Given the description of an element on the screen output the (x, y) to click on. 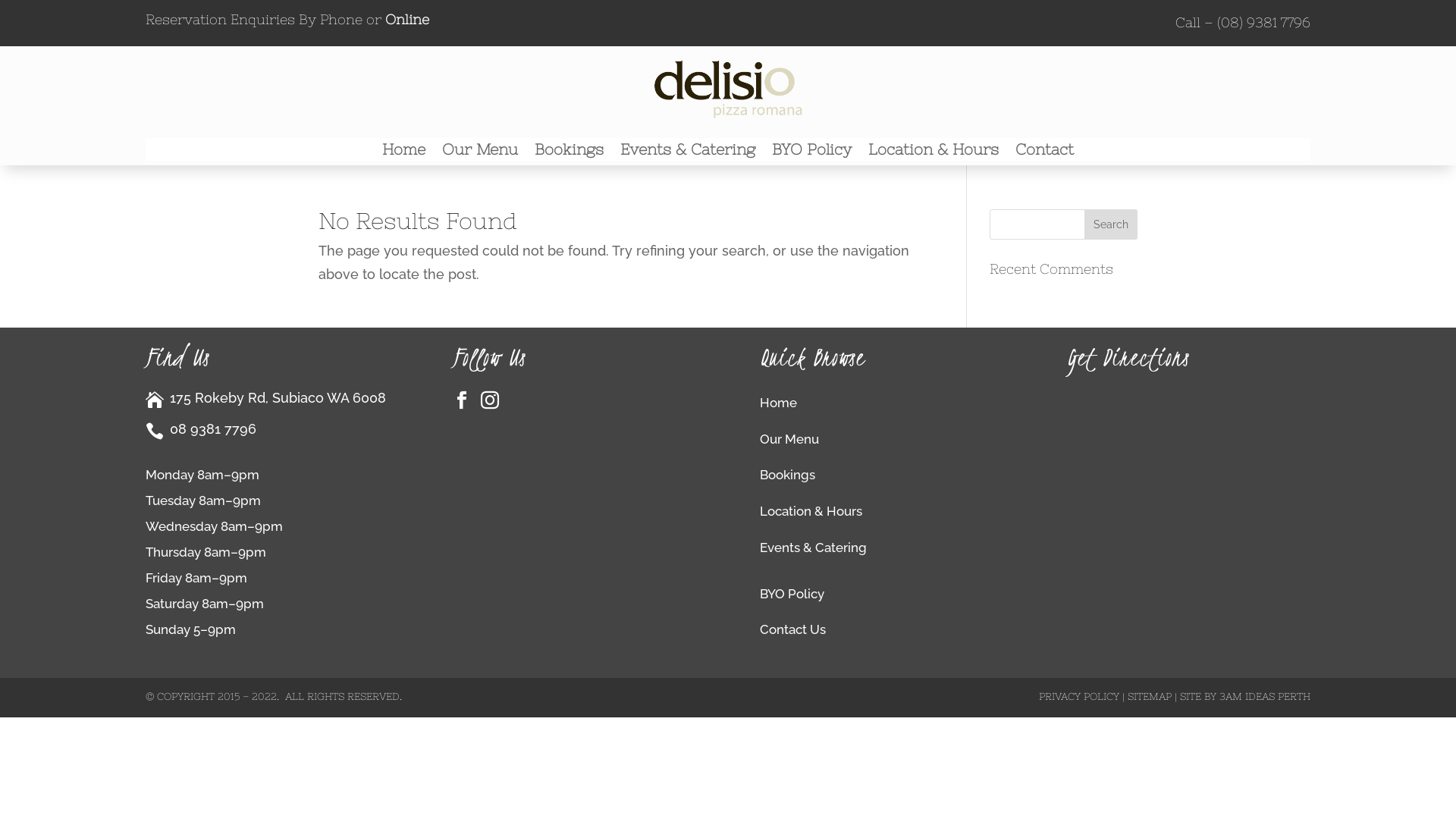
Our Menu Element type: text (789, 438)
Location & Hours Element type: text (810, 510)
Events & Catering Element type: text (687, 152)
BYO Policy Element type: text (791, 593)
08 9381 7796 Element type: text (212, 428)
Contact Element type: text (1044, 152)
Bookings Element type: text (787, 474)
Events & Catering Element type: text (812, 547)
Location & Hours Element type: text (933, 152)
Online Element type: text (407, 19)
Search Element type: text (1110, 224)
Bookings Element type: text (568, 152)
Contact Us Element type: text (792, 629)
Home Element type: text (778, 402)
Our Menu Element type: text (479, 152)
Home Element type: text (403, 152)
3AM IDEAS PERTH Element type: text (1264, 696)
Delisio-Logo-Perth-Subiaco-Gourmet-Pizzeria Element type: hover (727, 89)
BYO Policy Element type: text (811, 152)
